Given the description of an element on the screen output the (x, y) to click on. 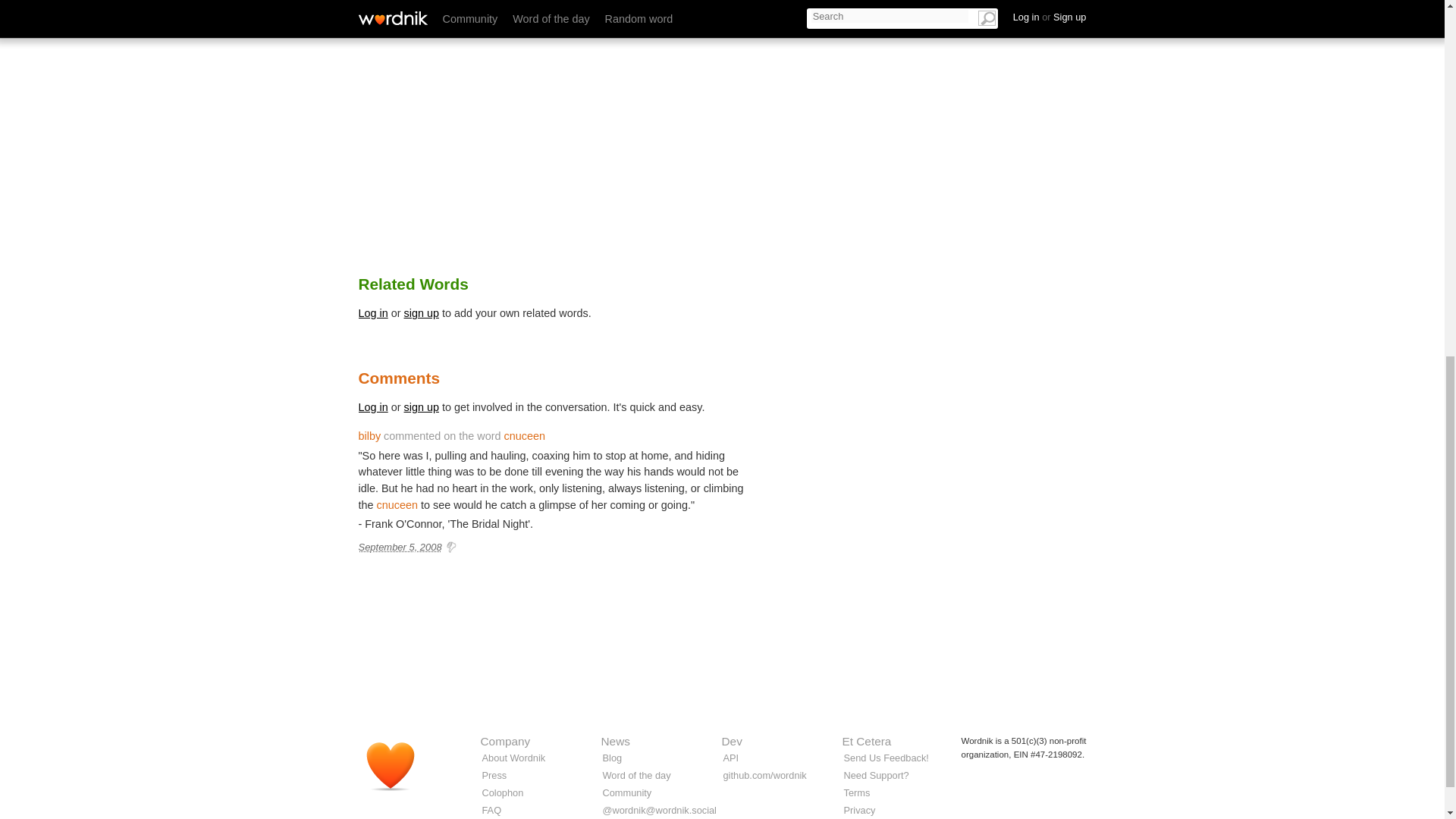
Press (493, 775)
3rd party ad content (934, 462)
3rd party ad content (721, 643)
FAQ (491, 809)
sign up (421, 407)
cnuceen (523, 435)
cnuceen (397, 504)
Colophon (502, 792)
Company (505, 740)
September 5, 2008 (399, 546)
3rd party ad content (934, 144)
Press (493, 775)
About Wordnik (513, 757)
In Wicklow and West Kerry (839, 15)
FAQ (491, 809)
